Given the description of an element on the screen output the (x, y) to click on. 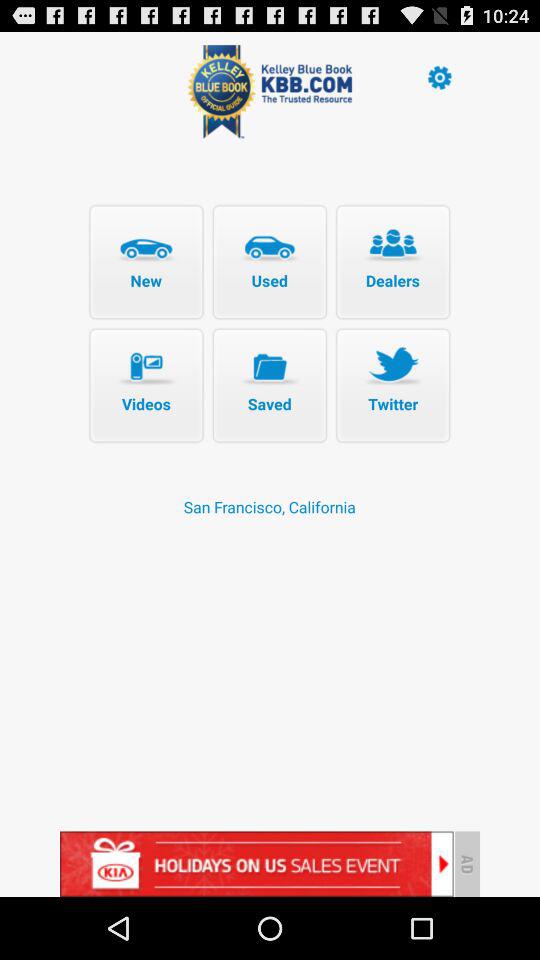
open advertisements (256, 864)
